Given the description of an element on the screen output the (x, y) to click on. 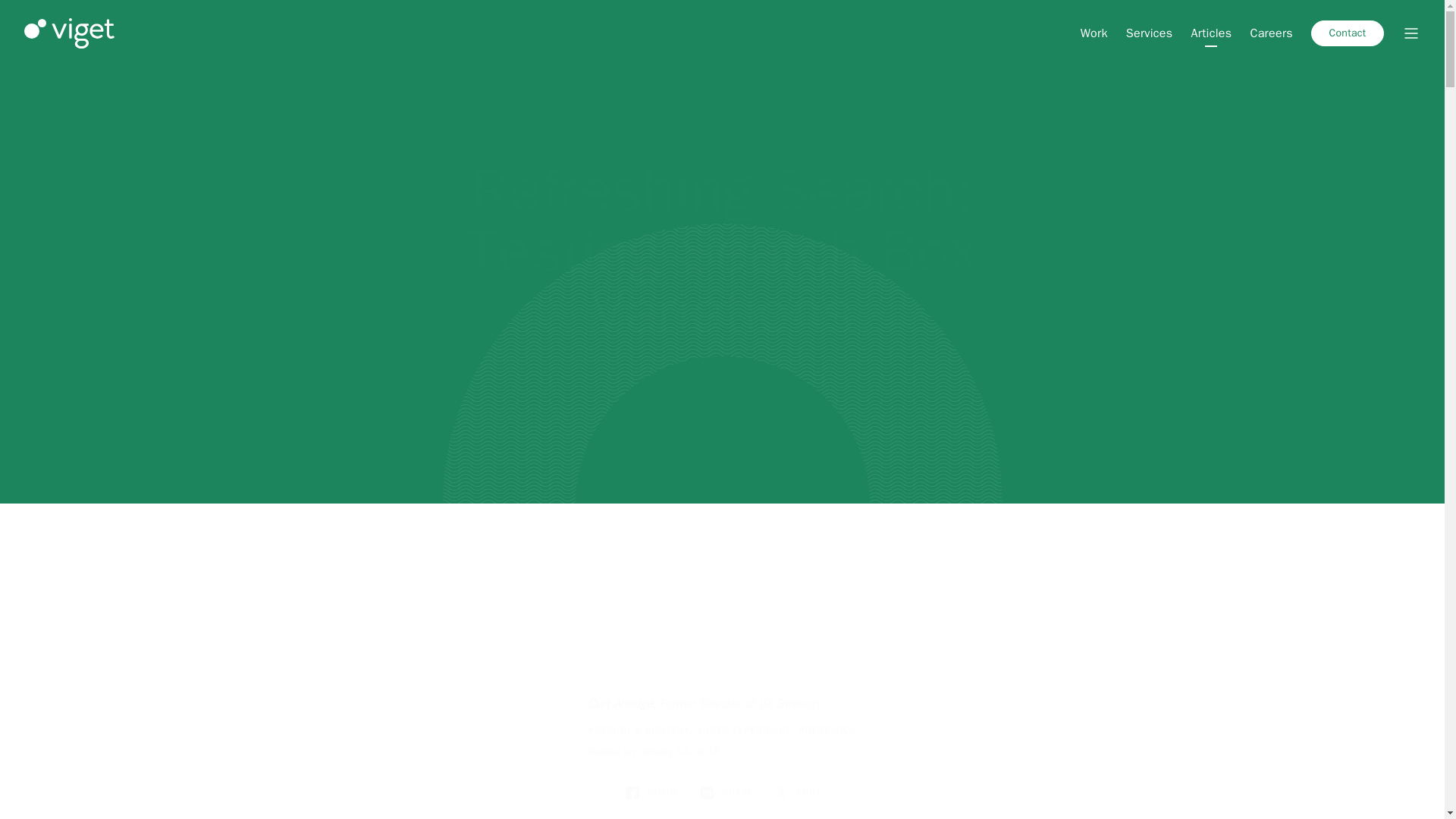
Articles (1211, 32)
Services (1149, 32)
POST (796, 791)
Careers (1270, 32)
Open Menu (1411, 33)
SHARE (725, 791)
SHARE (651, 791)
Contact (1347, 32)
Work (1094, 32)
Viget (69, 33)
